Given the description of an element on the screen output the (x, y) to click on. 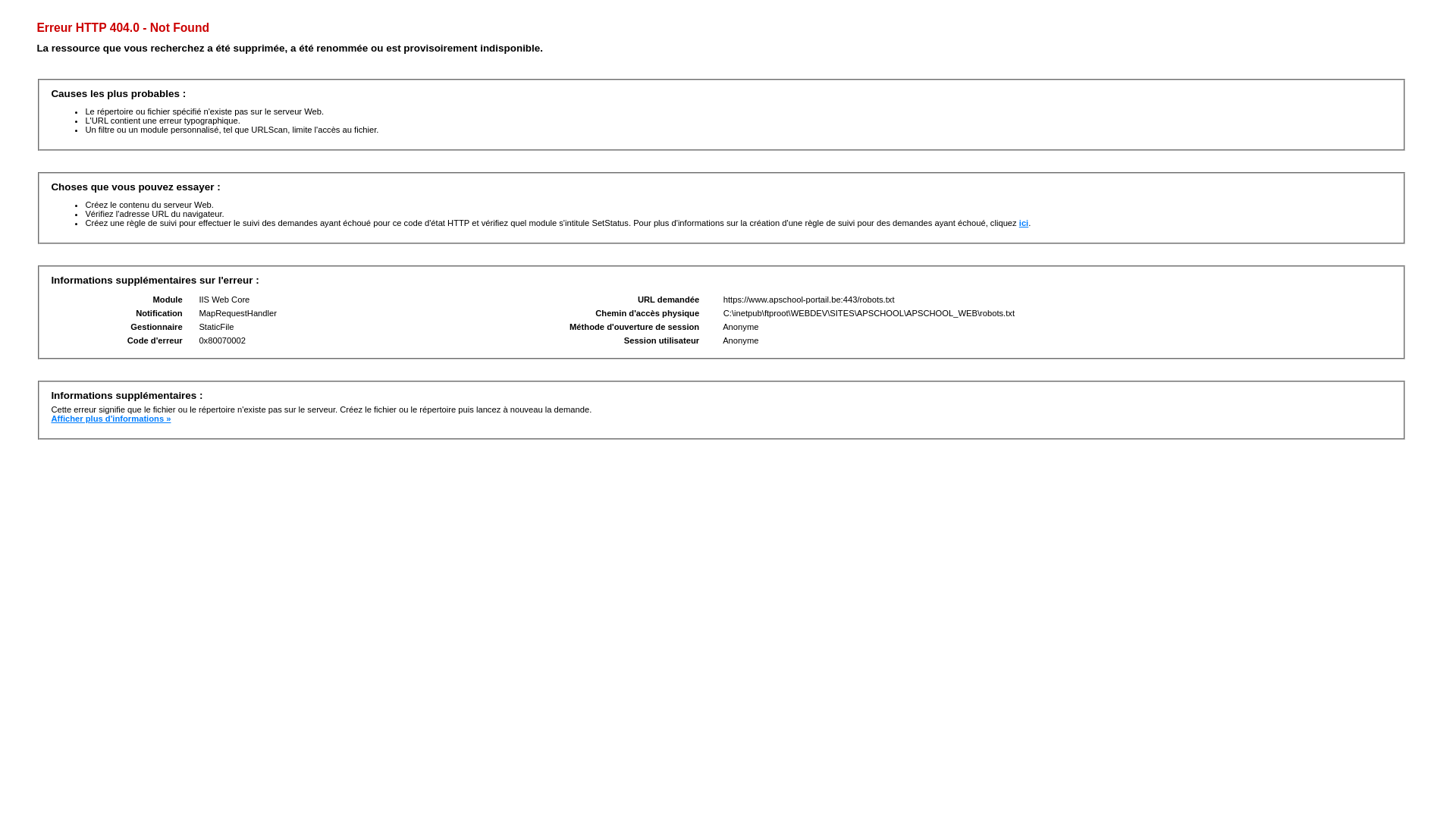
ici Element type: text (1023, 222)
